Given the description of an element on the screen output the (x, y) to click on. 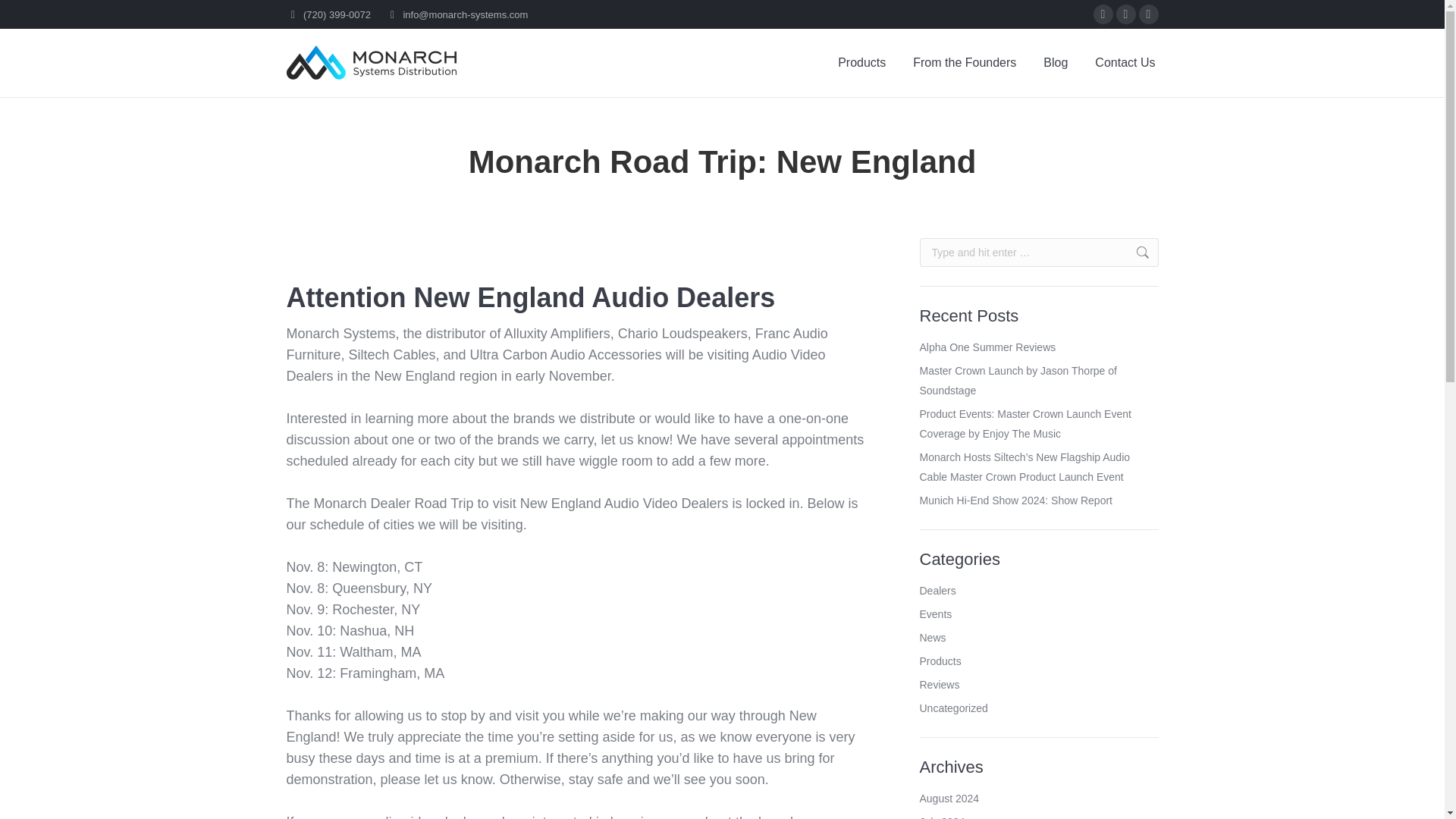
Products (861, 62)
Go! (1134, 252)
Facebook page opens in new window (1103, 14)
Instagram page opens in new window (1148, 14)
Go! (1134, 252)
X page opens in new window (1125, 14)
Facebook page opens in new window (1103, 14)
Instagram page opens in new window (1148, 14)
X page opens in new window (1125, 14)
